Given the description of an element on the screen output the (x, y) to click on. 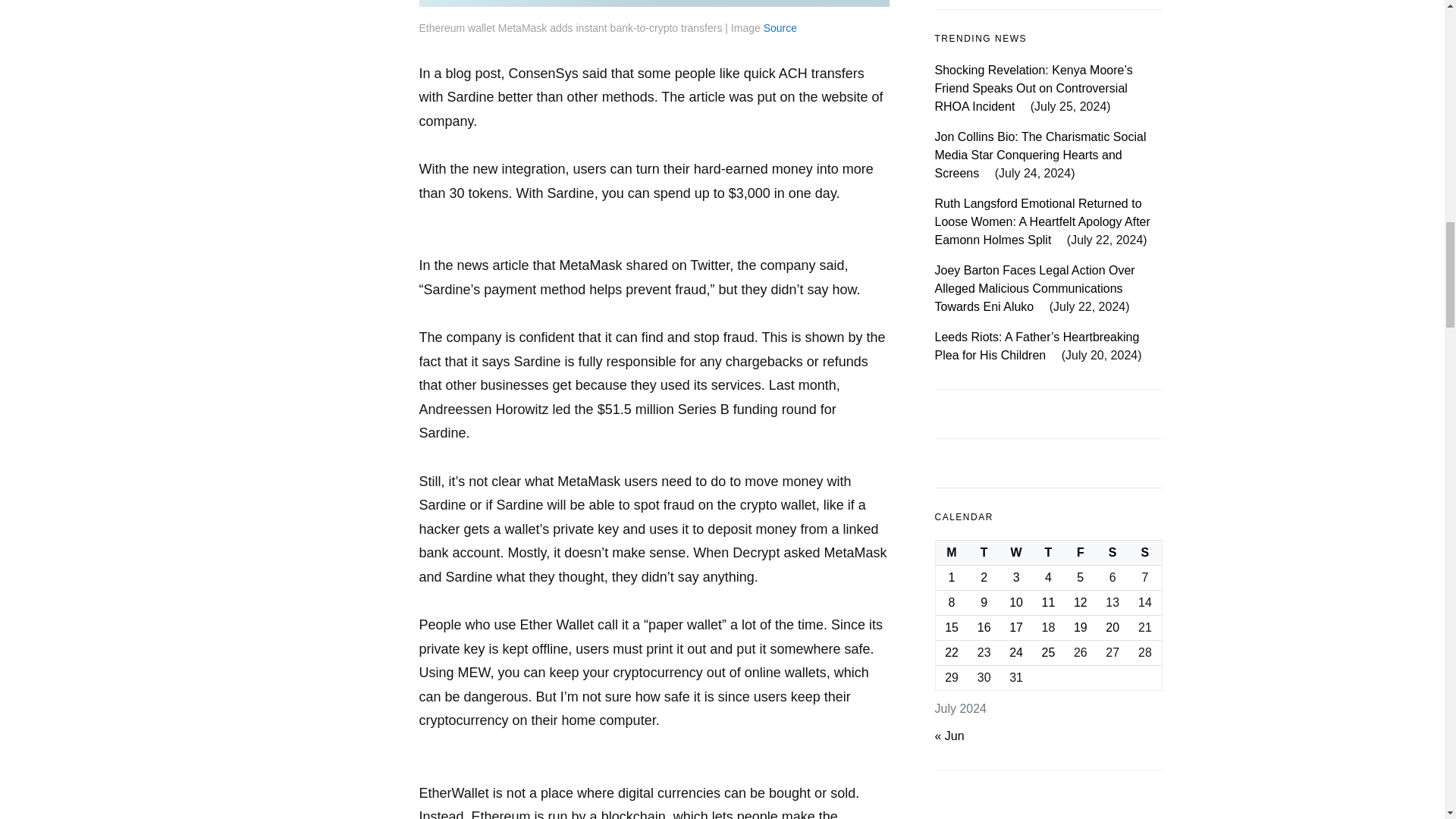
Wednesday (1016, 109)
Tuesday (984, 109)
Friday (1080, 109)
Thursday (1048, 109)
Monday (951, 109)
